Given the description of an element on the screen output the (x, y) to click on. 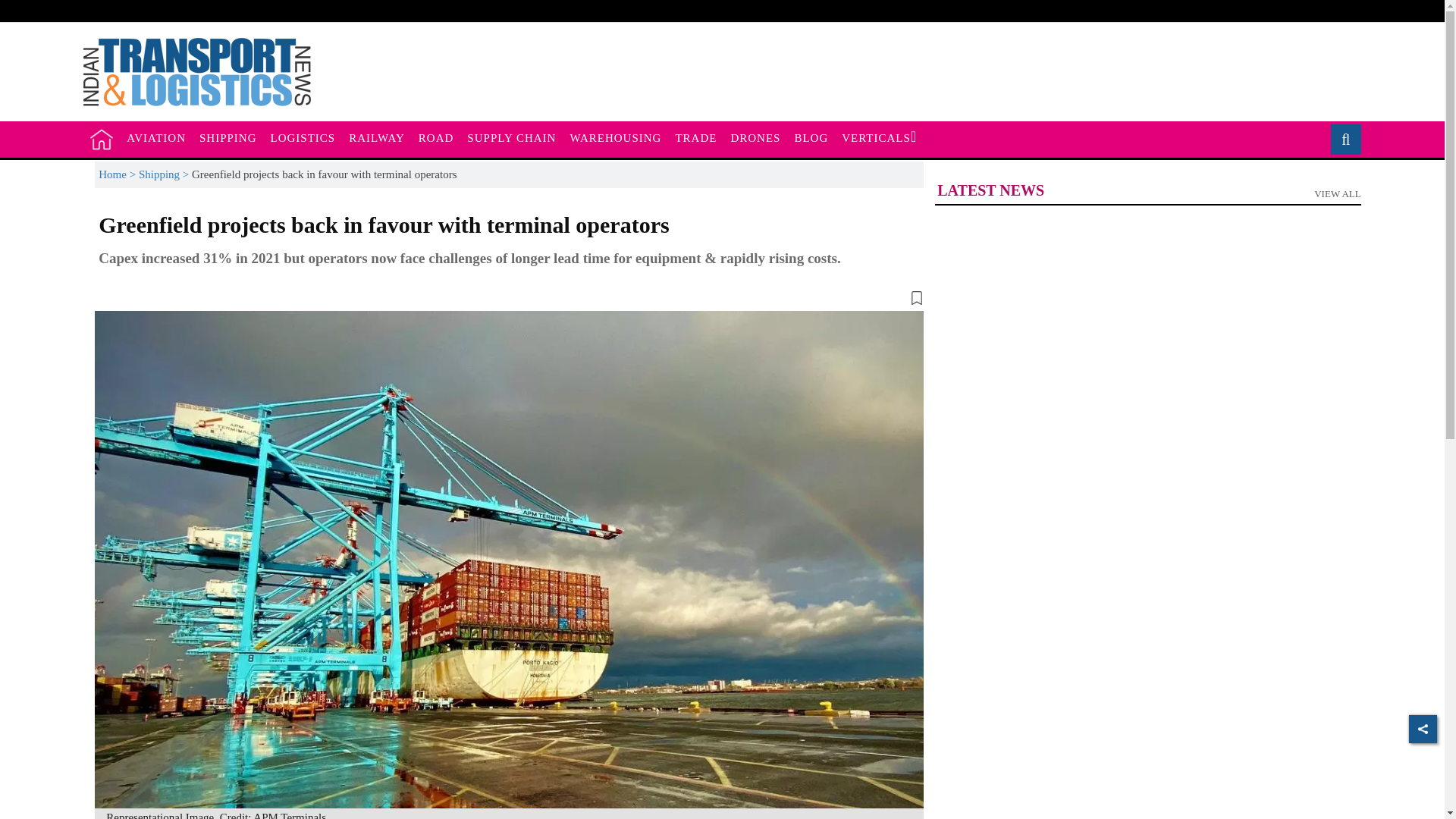
DRONES (755, 138)
VERTICALS (1146, 194)
Greenfield projects back in favour with terminal operators (878, 138)
WAREHOUSING (227, 138)
ROAD (615, 138)
home (436, 138)
AVIATION (101, 138)
search here (155, 138)
TRADE (1340, 139)
RAILWAY (695, 138)
LOGISTICS (377, 138)
BLOG (302, 138)
SUPPLY CHAIN (810, 138)
